Given the description of an element on the screen output the (x, y) to click on. 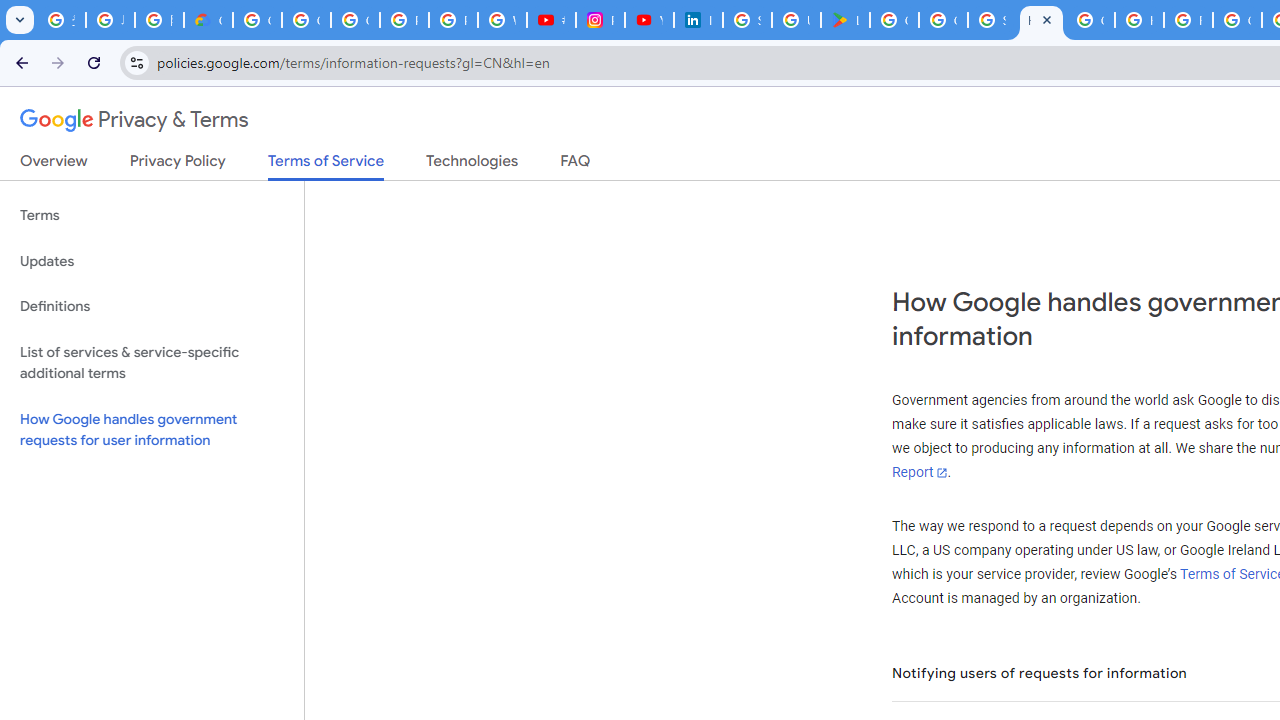
Google Workspace - Specific Terms (943, 20)
How do I create a new Google Account? - Google Account Help (1138, 20)
Privacy Help Center - Policies Help (452, 20)
